Given the description of an element on the screen output the (x, y) to click on. 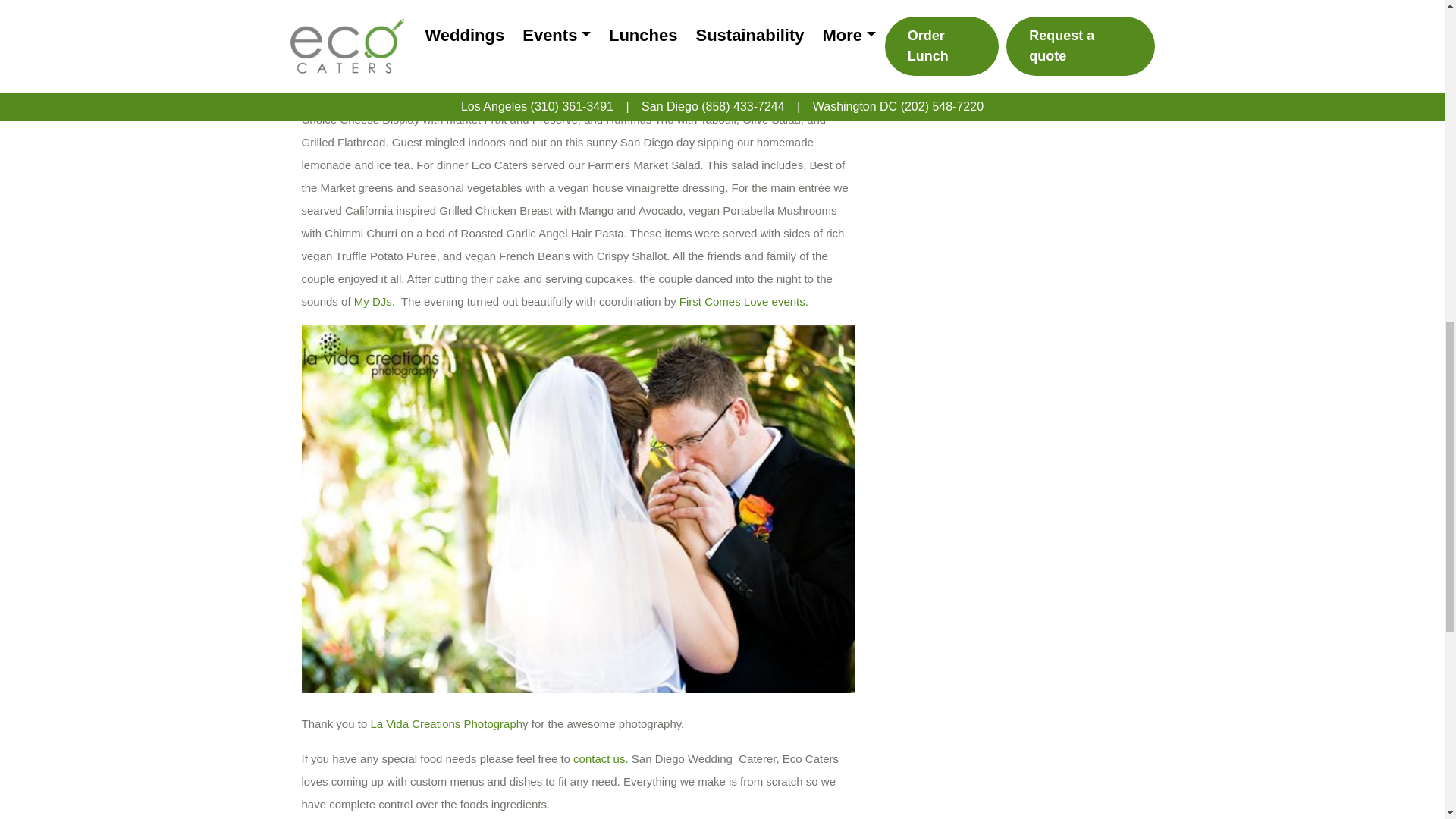
La Vida Creations Photograph (445, 723)
Ceremonies by Bethel (718, 73)
Marina Village (607, 73)
My DJs (372, 300)
First Comes Love events. (743, 300)
